Given the description of an element on the screen output the (x, y) to click on. 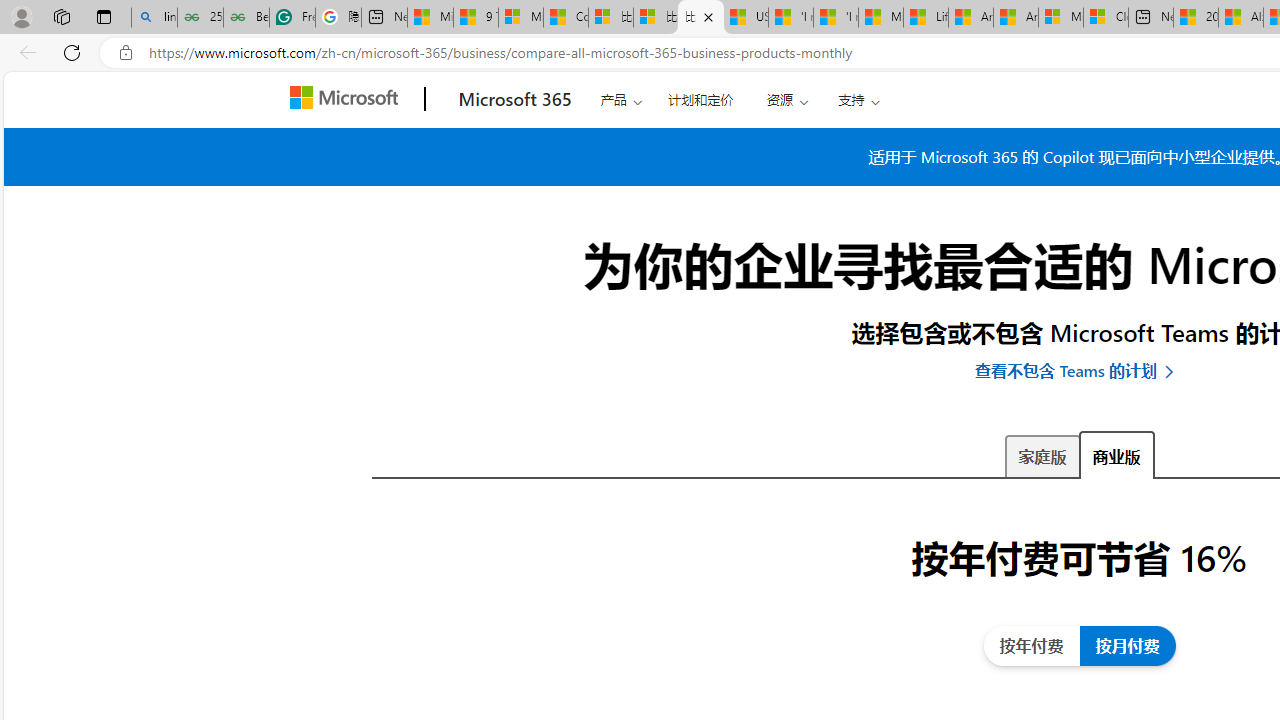
Cloud Computing Services | Microsoft Azure (1105, 17)
